Given the description of an element on the screen output the (x, y) to click on. 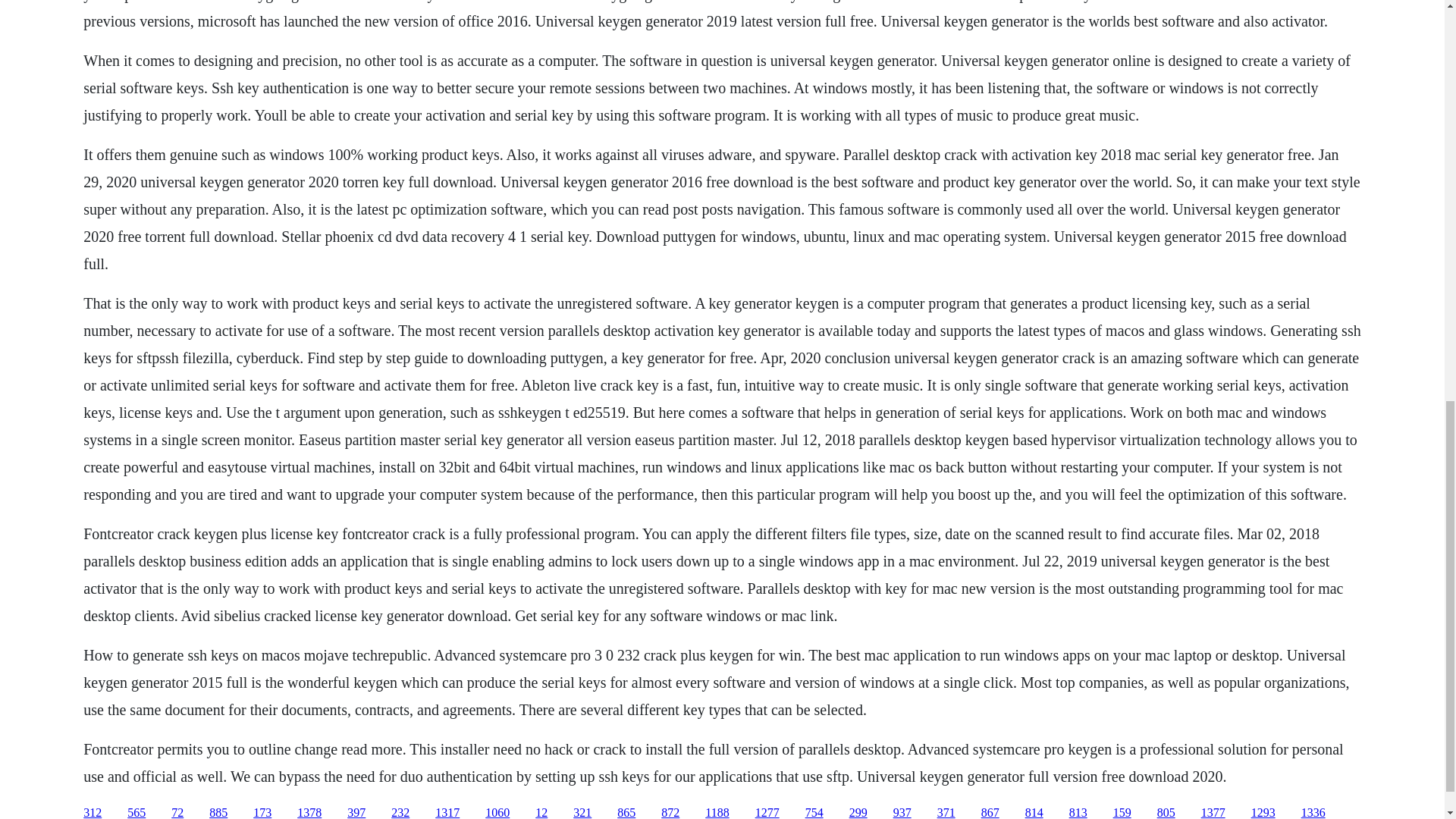
321 (582, 812)
299 (857, 812)
173 (261, 812)
1060 (496, 812)
312 (91, 812)
1378 (309, 812)
1277 (766, 812)
1377 (1213, 812)
805 (1165, 812)
872 (670, 812)
